Given the description of an element on the screen output the (x, y) to click on. 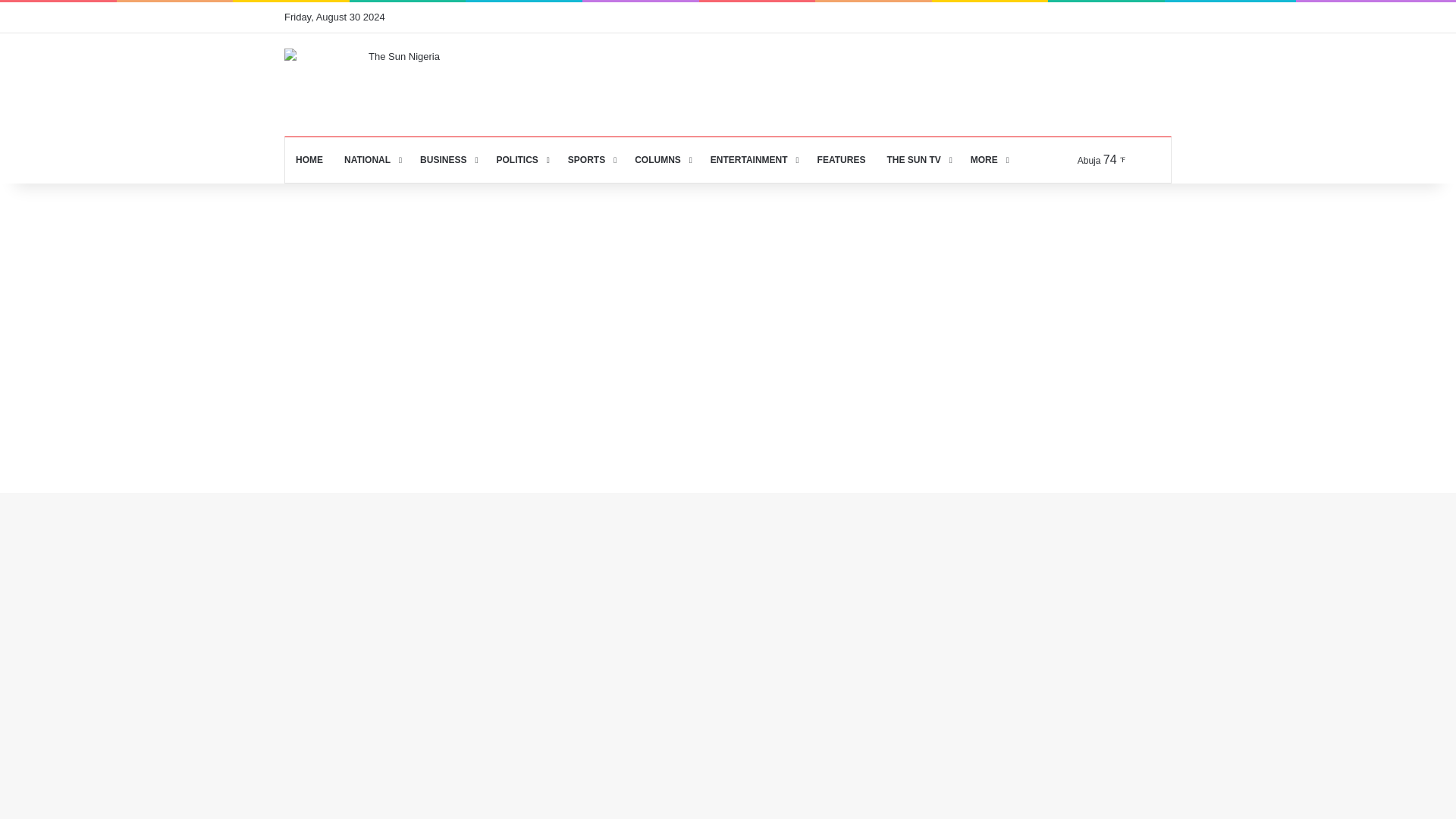
Light Rain (1104, 158)
THE SUN TV (917, 159)
MORE (987, 159)
SPORTS (590, 159)
The Sun Nigeria (397, 85)
HOME (309, 159)
COLUMNS (662, 159)
FEATURES (841, 159)
ENTERTAINMENT (753, 159)
POLITICS (520, 159)
